Given the description of an element on the screen output the (x, y) to click on. 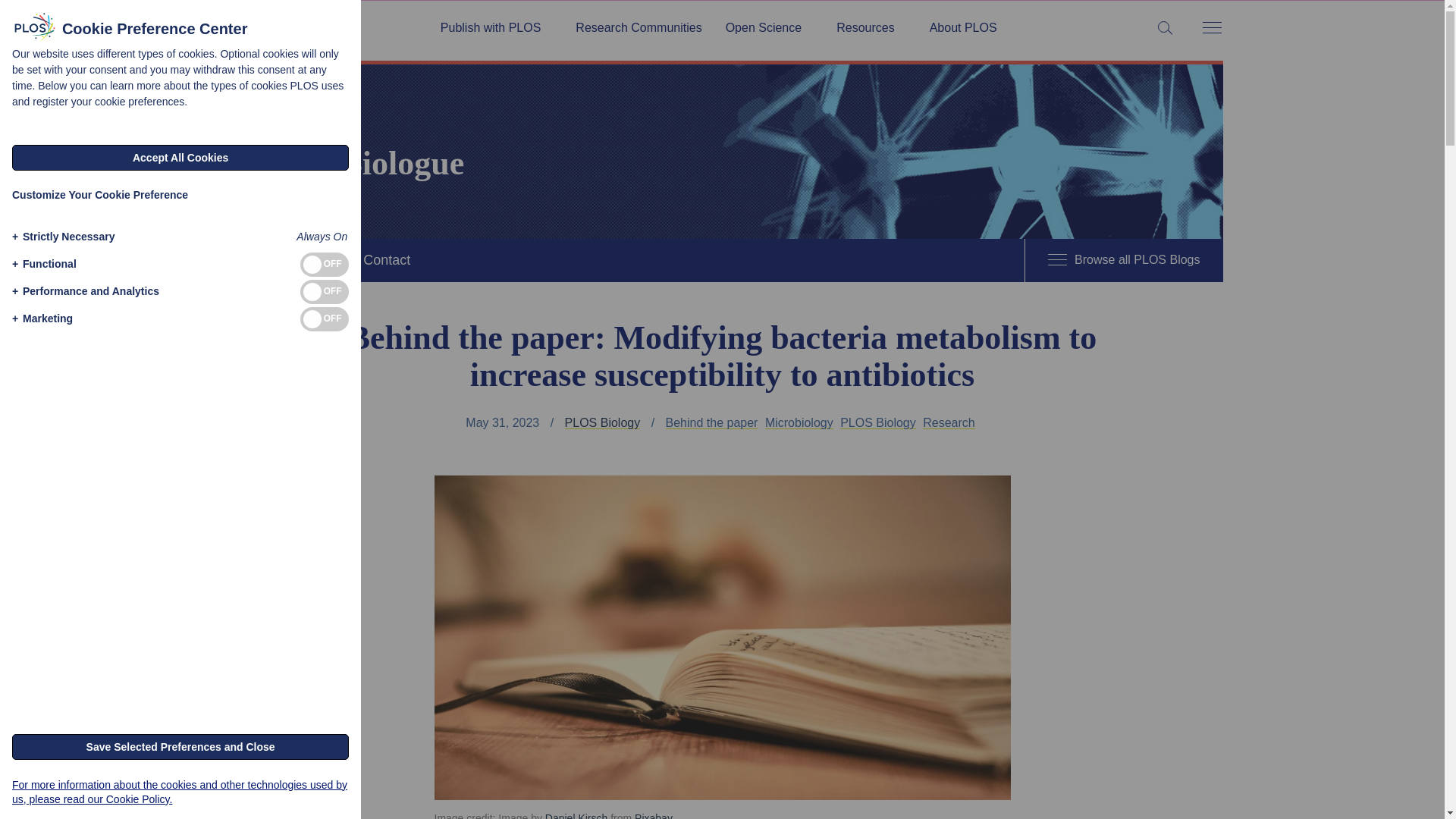
About PLOS (962, 28)
Research Communities (638, 28)
Open Science (769, 28)
Search (15, 15)
Publish with PLOS (496, 28)
Resources (870, 28)
Menu (1211, 28)
